Given the description of an element on the screen output the (x, y) to click on. 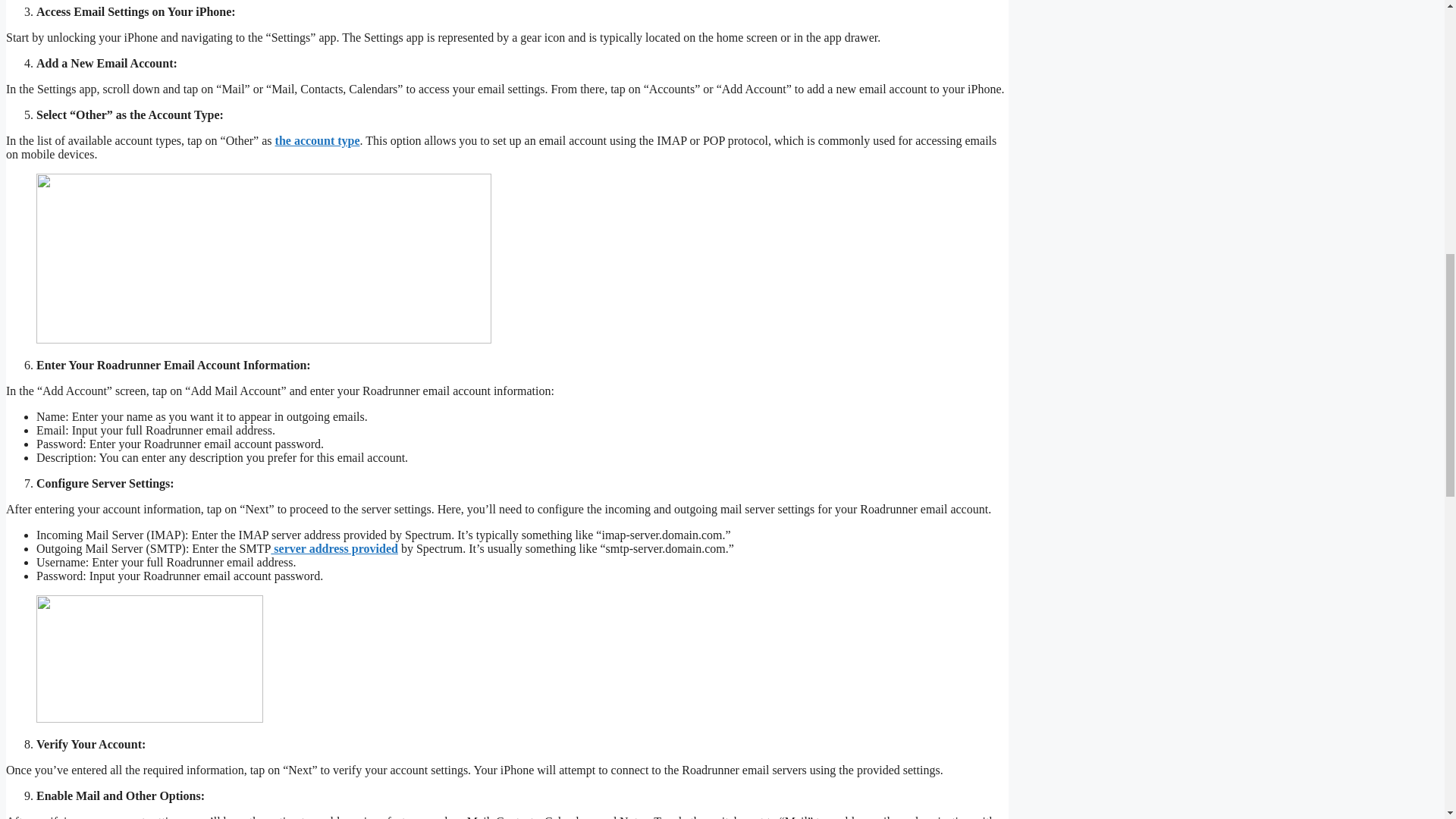
server address provided (333, 547)
the account type (317, 139)
